Given the description of an element on the screen output the (x, y) to click on. 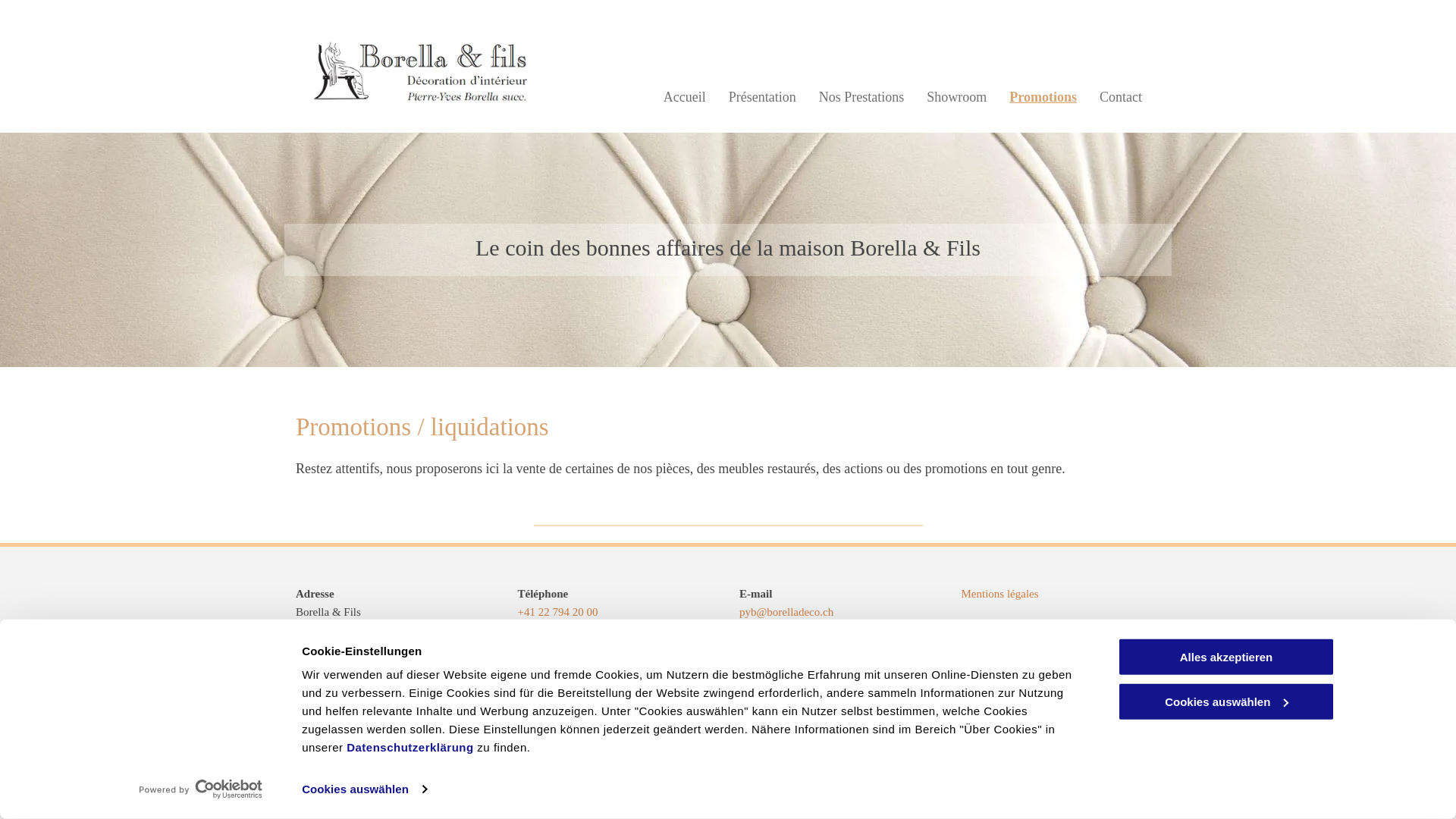
Showroom Element type: text (956, 97)
pyb@borelladeco.ch Element type: text (786, 611)
Contact Element type: text (1120, 97)
+41 79 418 72 74 Element type: text (557, 648)
Alles akzeptieren Element type: text (1225, 656)
Promotions Element type: text (1042, 97)
Accueil Element type: text (684, 97)
+41 22 794 20 00 Element type: text (557, 611)
Nos Prestations Element type: text (861, 97)
